Given the description of an element on the screen output the (x, y) to click on. 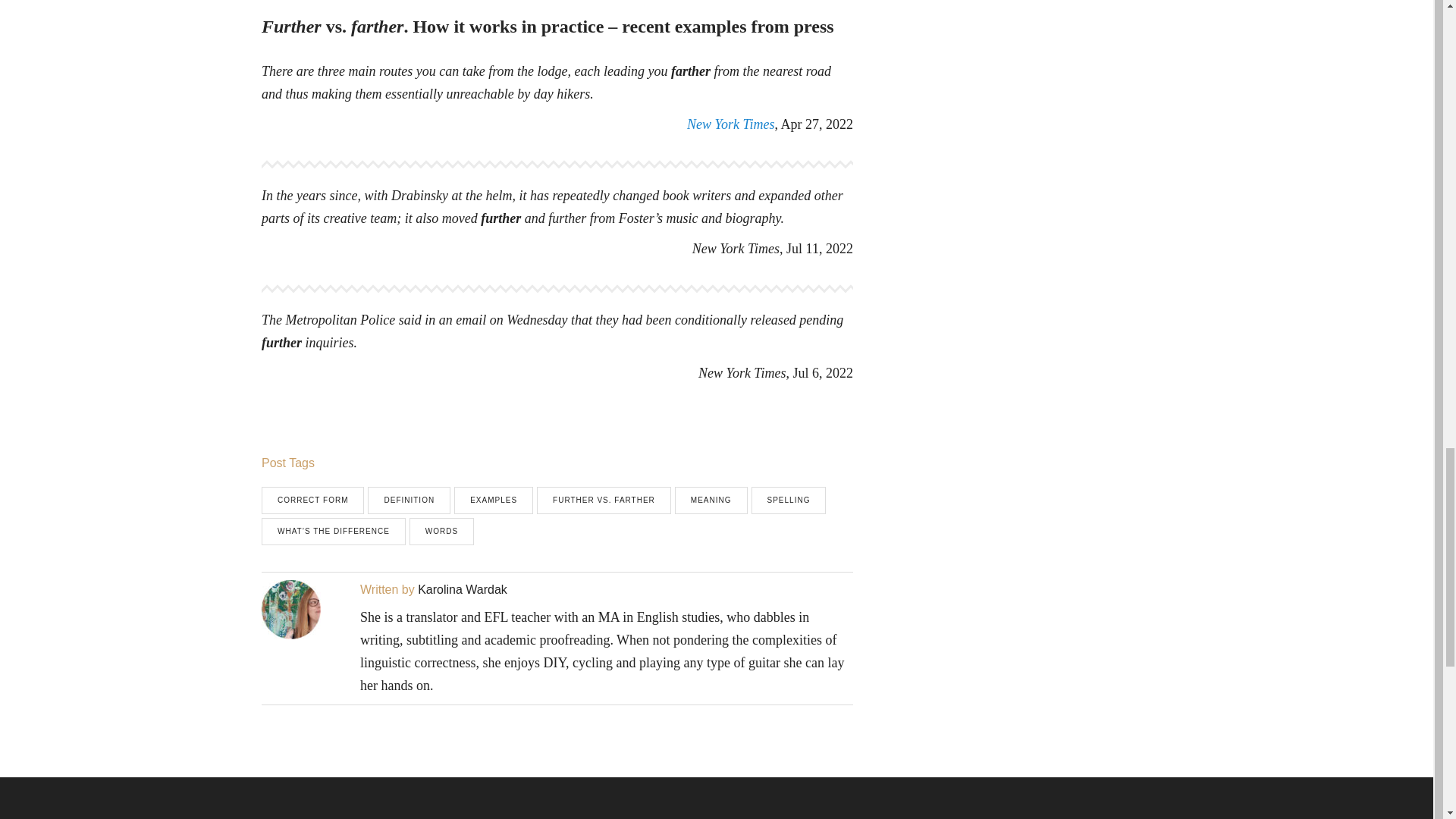
New York Times (730, 124)
CORRECT FORM (313, 500)
DEFINITION (408, 500)
EXAMPLES (493, 500)
MEANING (711, 500)
SPELLING (789, 500)
FURTHER VS. FARTHER (604, 500)
